Given the description of an element on the screen output the (x, y) to click on. 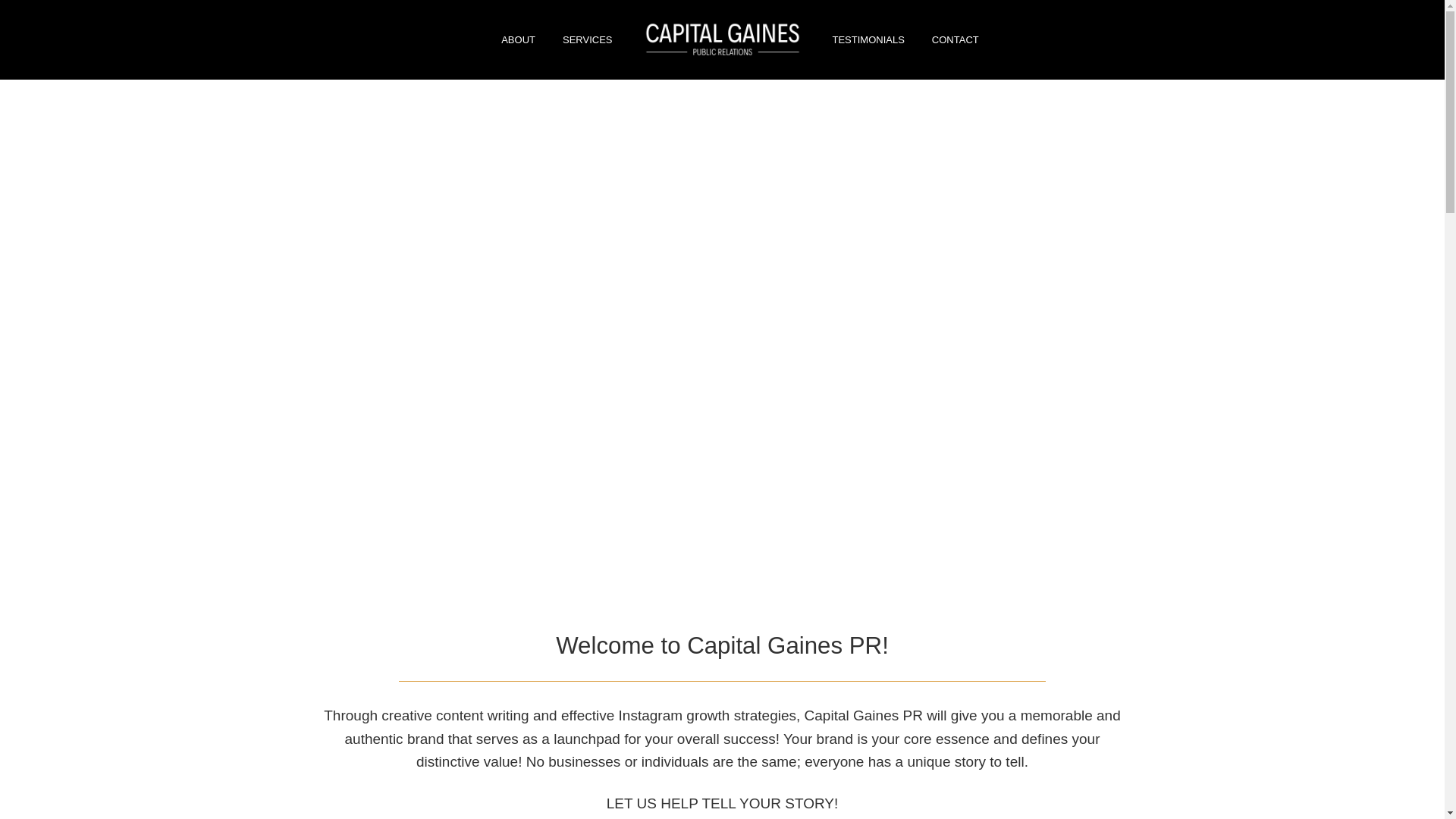
TESTIMONIALS (869, 39)
ABOUT (518, 39)
CONTACT (955, 39)
SERVICES (587, 39)
